Given the description of an element on the screen output the (x, y) to click on. 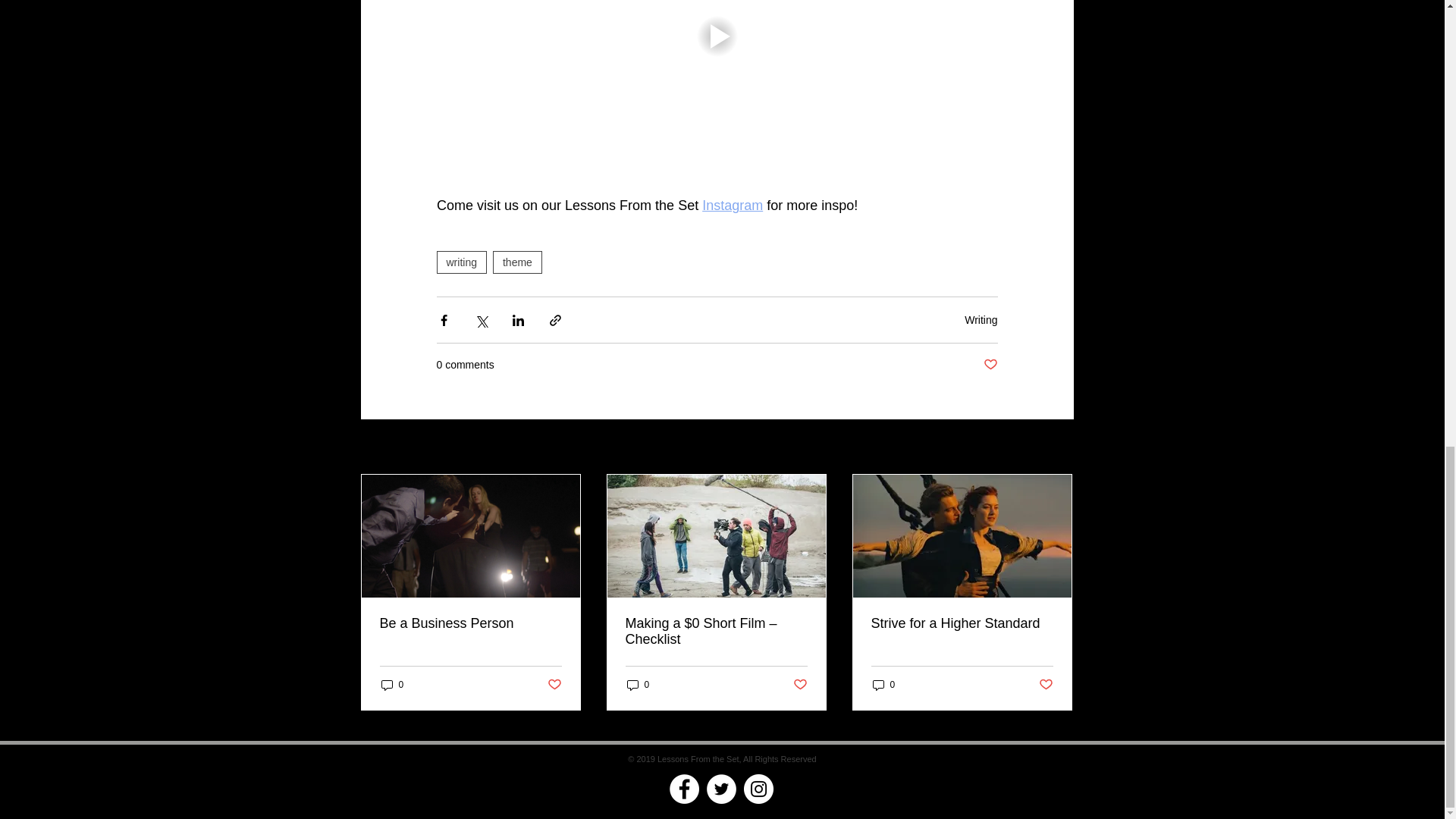
Post not marked as liked (554, 684)
Post not marked as liked (800, 684)
writing (461, 261)
0 (637, 685)
Writing (980, 319)
Instagram (731, 205)
Strive for a Higher Standard (961, 623)
Be a Business Person (469, 623)
Post not marked as liked (989, 365)
theme (517, 261)
